Given the description of an element on the screen output the (x, y) to click on. 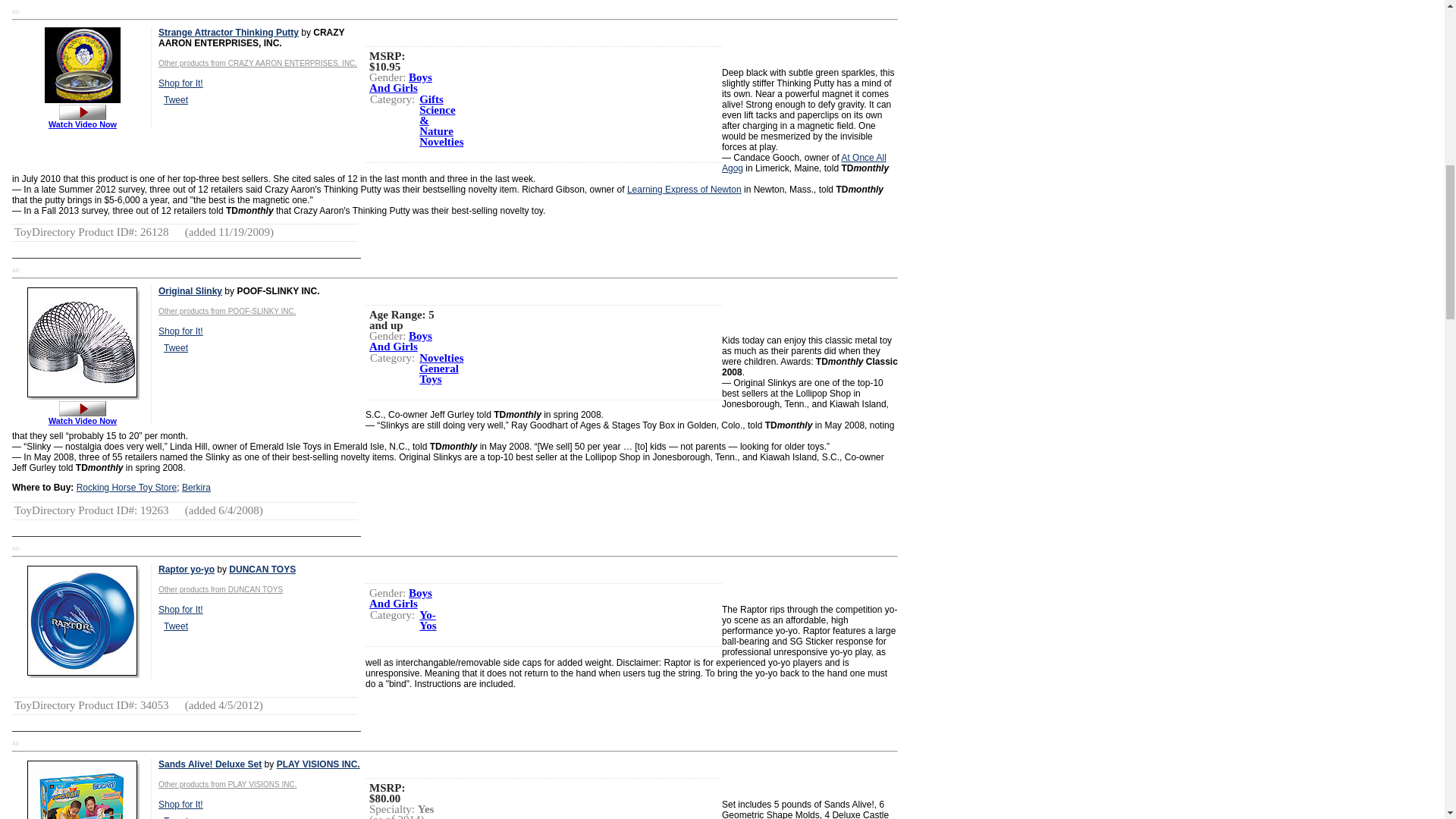
Tweet (175, 100)
Gifts (431, 99)
Other products from CRAZY AARON ENTERPRISES, INC. (257, 62)
Watch the Strange Attractor Thinking Putty Video (82, 120)
Shop for It! (180, 82)
Boys And Girls (400, 82)
Watch the Strange Attractor Thinking Putty Video (82, 111)
Watch Video Now (82, 120)
Strange Attractor Thinking Putty (228, 32)
